Given the description of an element on the screen output the (x, y) to click on. 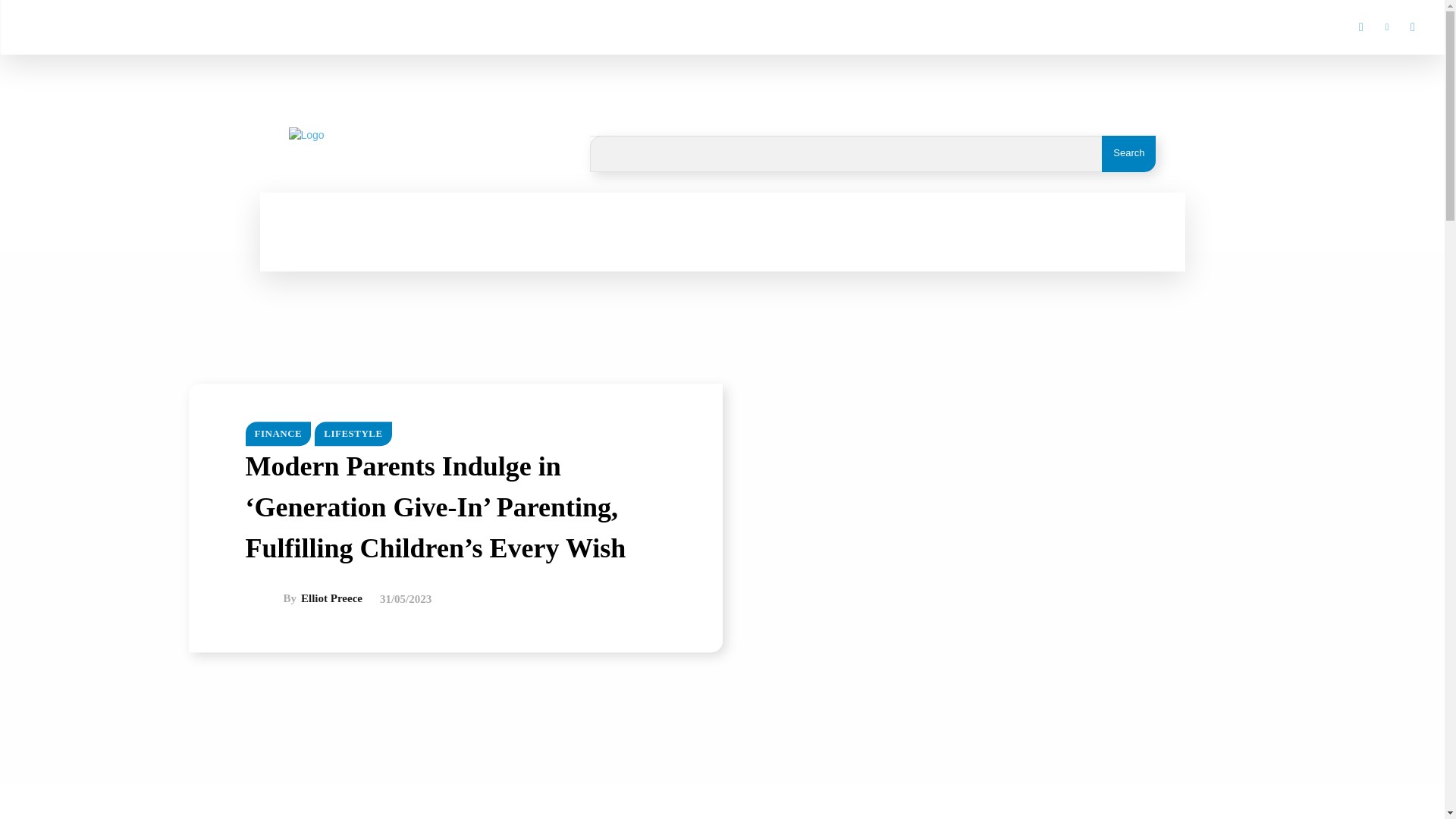
Elliot Preece (264, 598)
Facebook (1361, 27)
Linkedin (1386, 27)
Twitter (1412, 27)
